Given the description of an element on the screen output the (x, y) to click on. 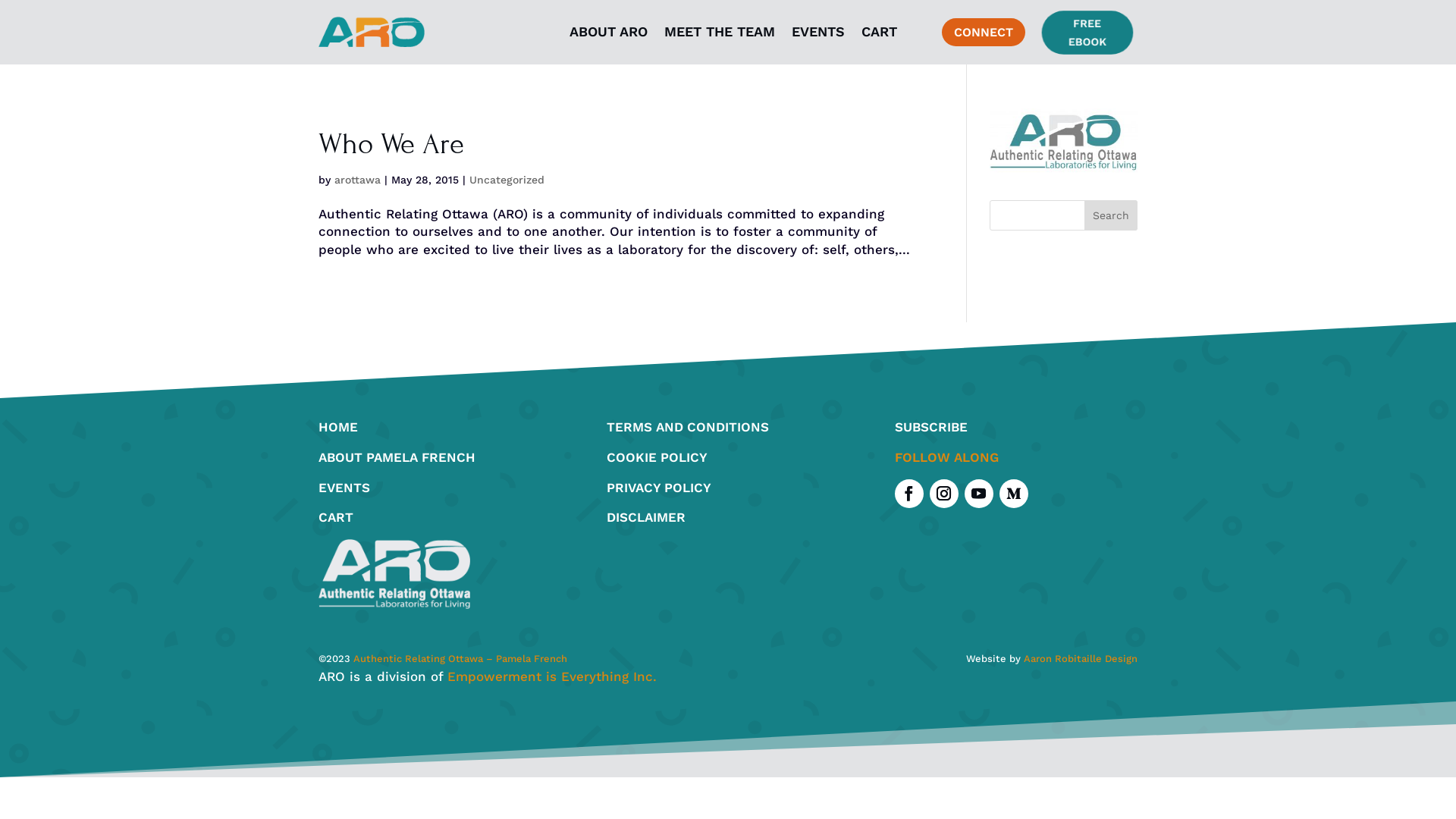
Follow on Youtube Element type: hover (978, 493)
EVENTS Element type: text (817, 31)
CART Element type: text (879, 31)
arottawa Element type: text (357, 179)
FREE EBOOK Element type: text (1091, 33)
CONNECT Element type: text (983, 32)
Uncategorized Element type: text (506, 179)
Follow on Instagram Element type: hover (943, 493)
Follow on Facebook Element type: hover (908, 493)
Aaron Robitaille Design Element type: text (1080, 658)
Search Element type: text (1110, 215)
Follow on Meetup Element type: hover (1013, 493)
ABOUT ARO Element type: text (608, 31)
Empowerment is Everything Inc. Element type: text (551, 676)
MEET THE TEAM Element type: text (719, 31)
Who We Are Element type: text (391, 143)
ARO-logo-tag-white-2022_1-8 Element type: hover (394, 573)
